Given the description of an element on the screen output the (x, y) to click on. 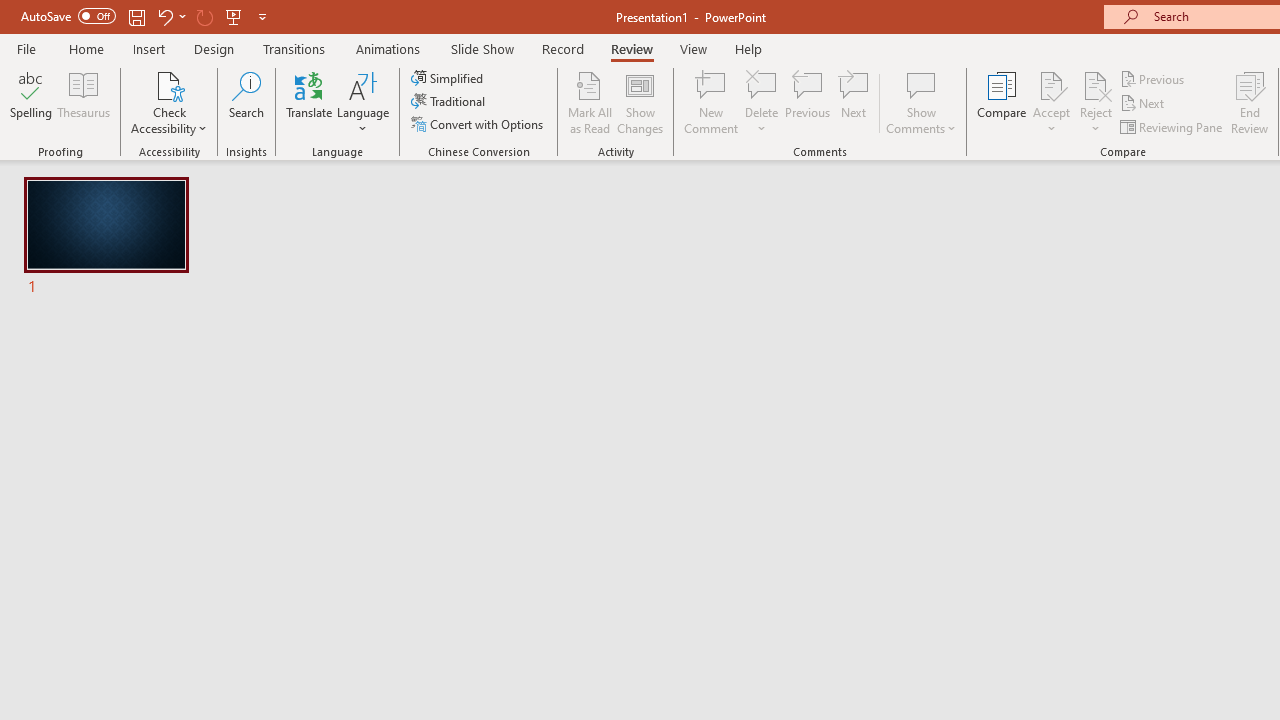
Accept (1051, 102)
Accept Change (1051, 84)
Next (1144, 103)
Delete (762, 102)
Traditional (449, 101)
